Given the description of an element on the screen output the (x, y) to click on. 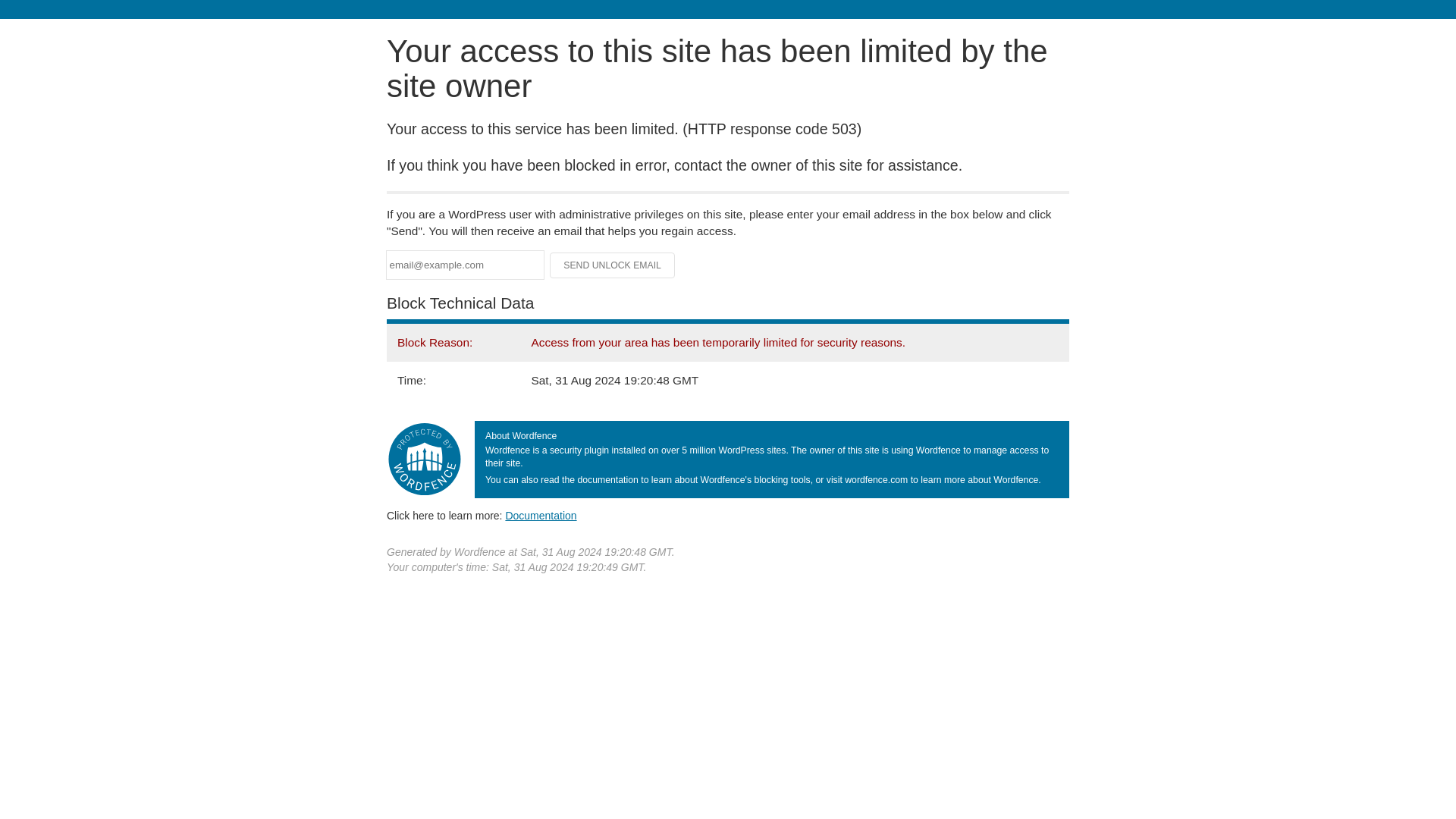
Send Unlock Email (612, 265)
Send Unlock Email (612, 265)
Documentation (540, 515)
